Given the description of an element on the screen output the (x, y) to click on. 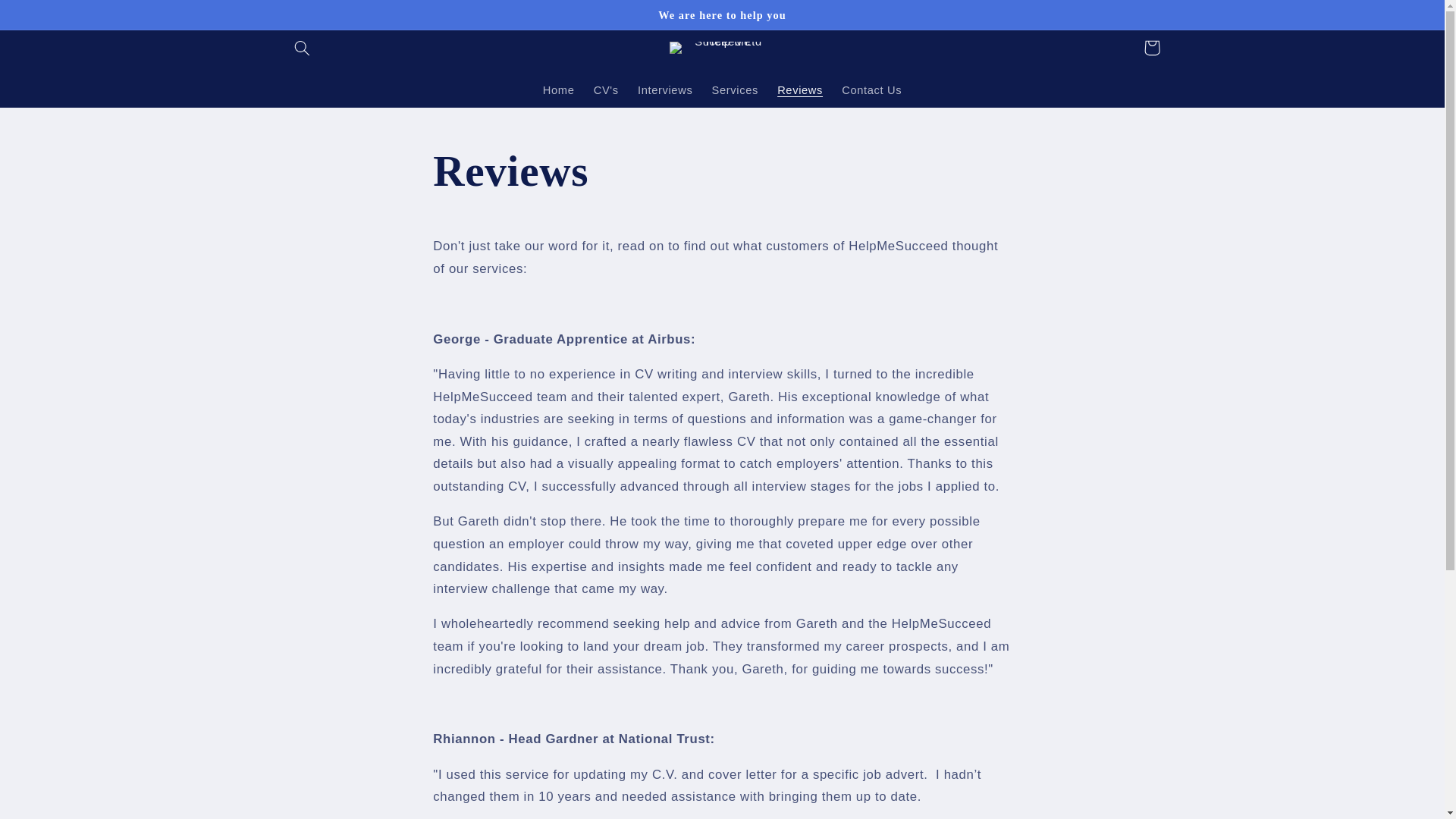
Skip to content (48, 18)
Home (557, 90)
Cart (1151, 47)
Reviews (800, 90)
CV's (605, 90)
Services (734, 90)
Contact Us (871, 90)
Interviews (664, 90)
